Given the description of an element on the screen output the (x, y) to click on. 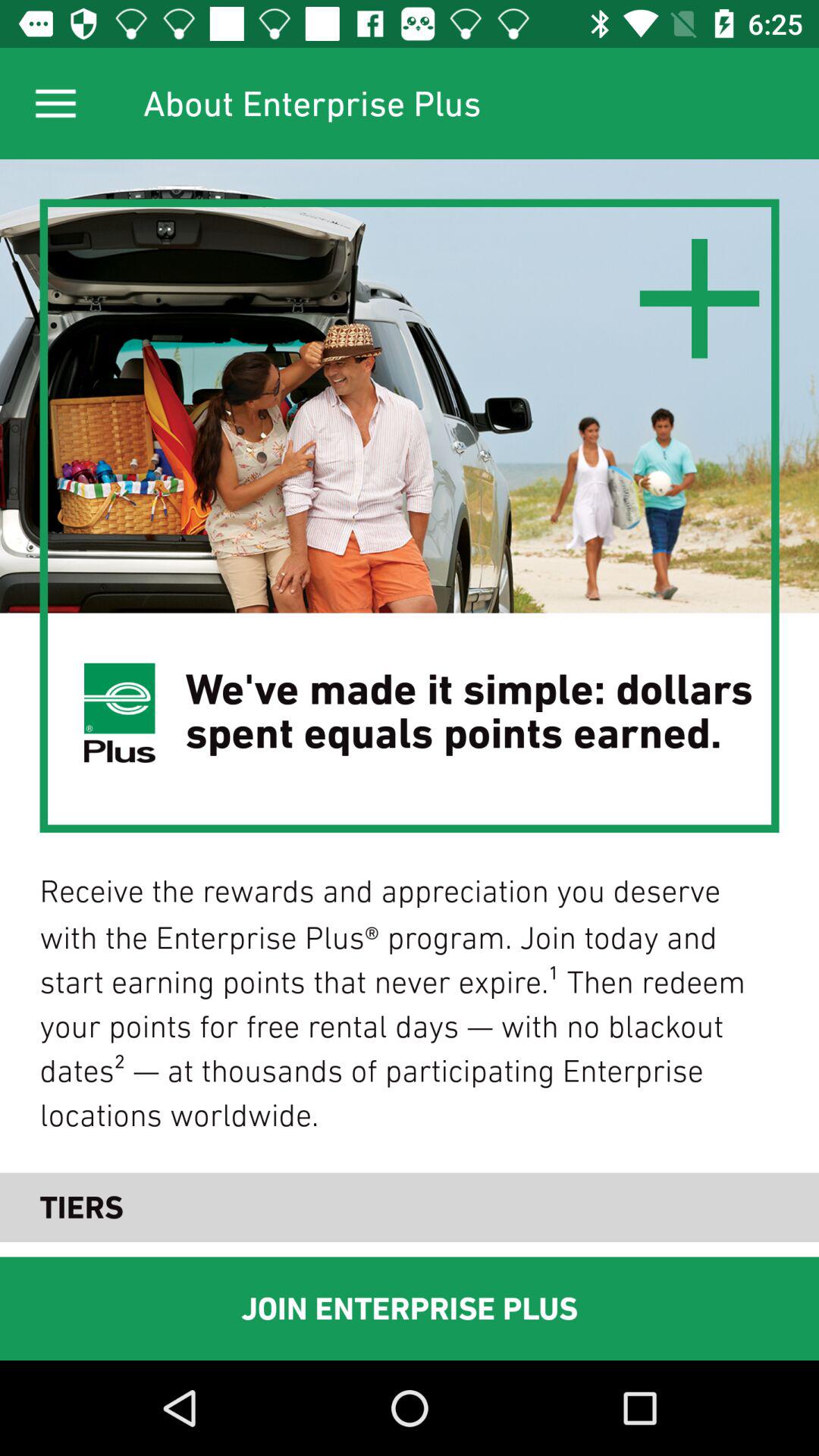
open the item to the left of the about enterprise plus (55, 103)
